Given the description of an element on the screen output the (x, y) to click on. 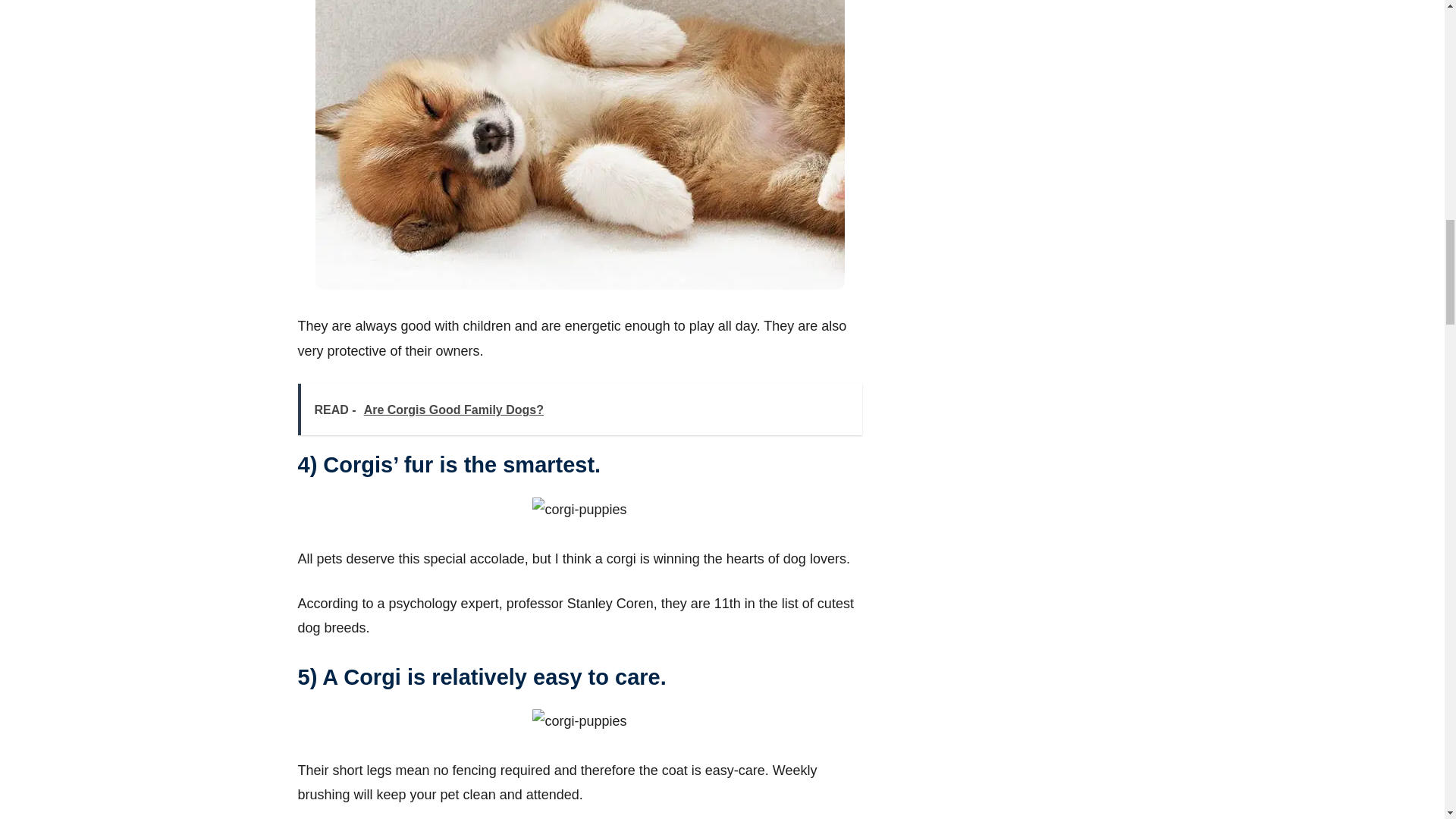
Top 10 Benefits of Having a Corgi 4 (579, 509)
Top 10 Benefits of Having a Corgi 5 (579, 721)
